Given the description of an element on the screen output the (x, y) to click on. 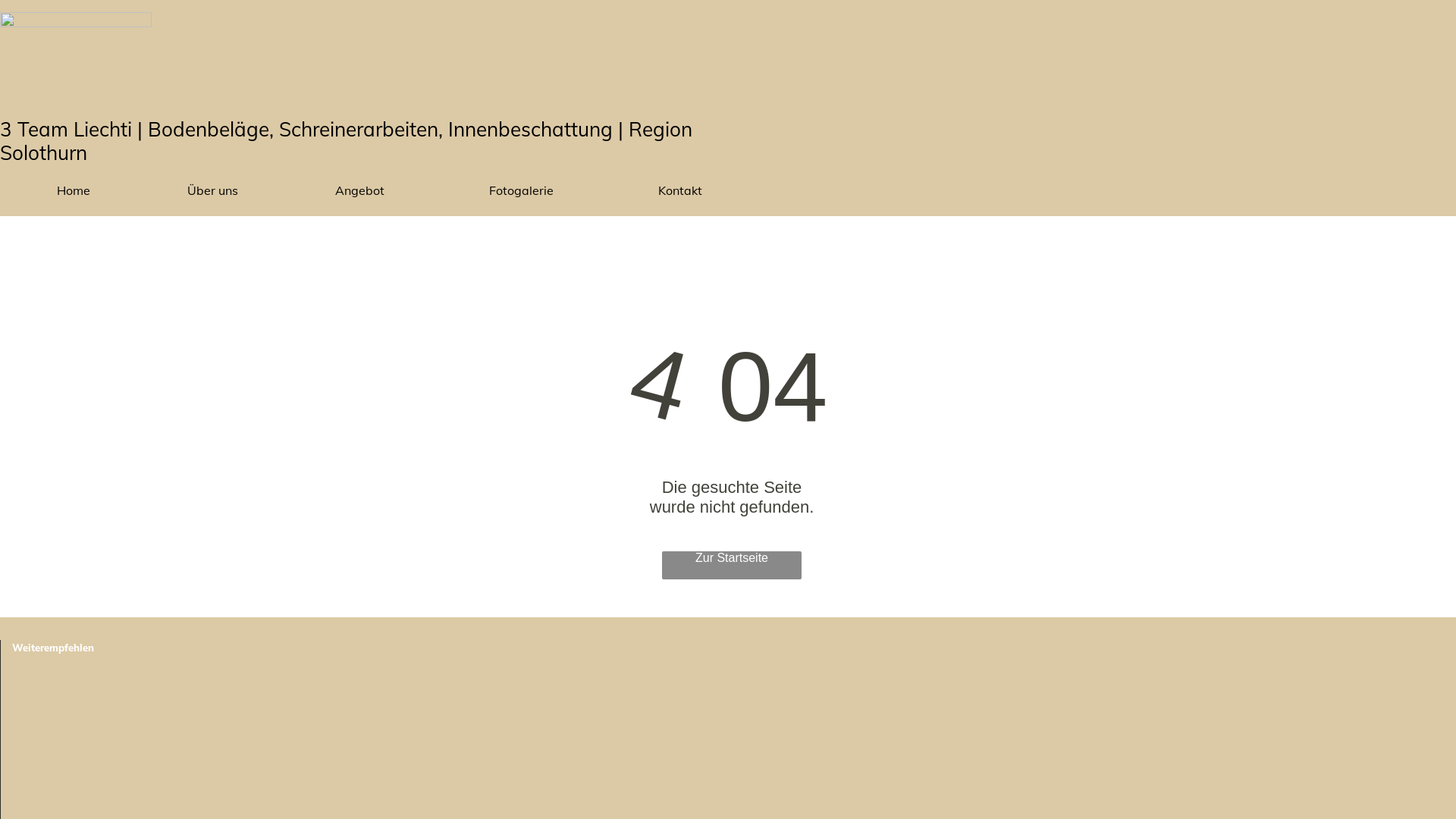
Kontakt Element type: text (679, 190)
Angebot Element type: text (363, 190)
Fotogalerie Element type: text (523, 190)
Zur Startseite Element type: text (731, 565)
Home Element type: text (72, 190)
